Given the description of an element on the screen output the (x, y) to click on. 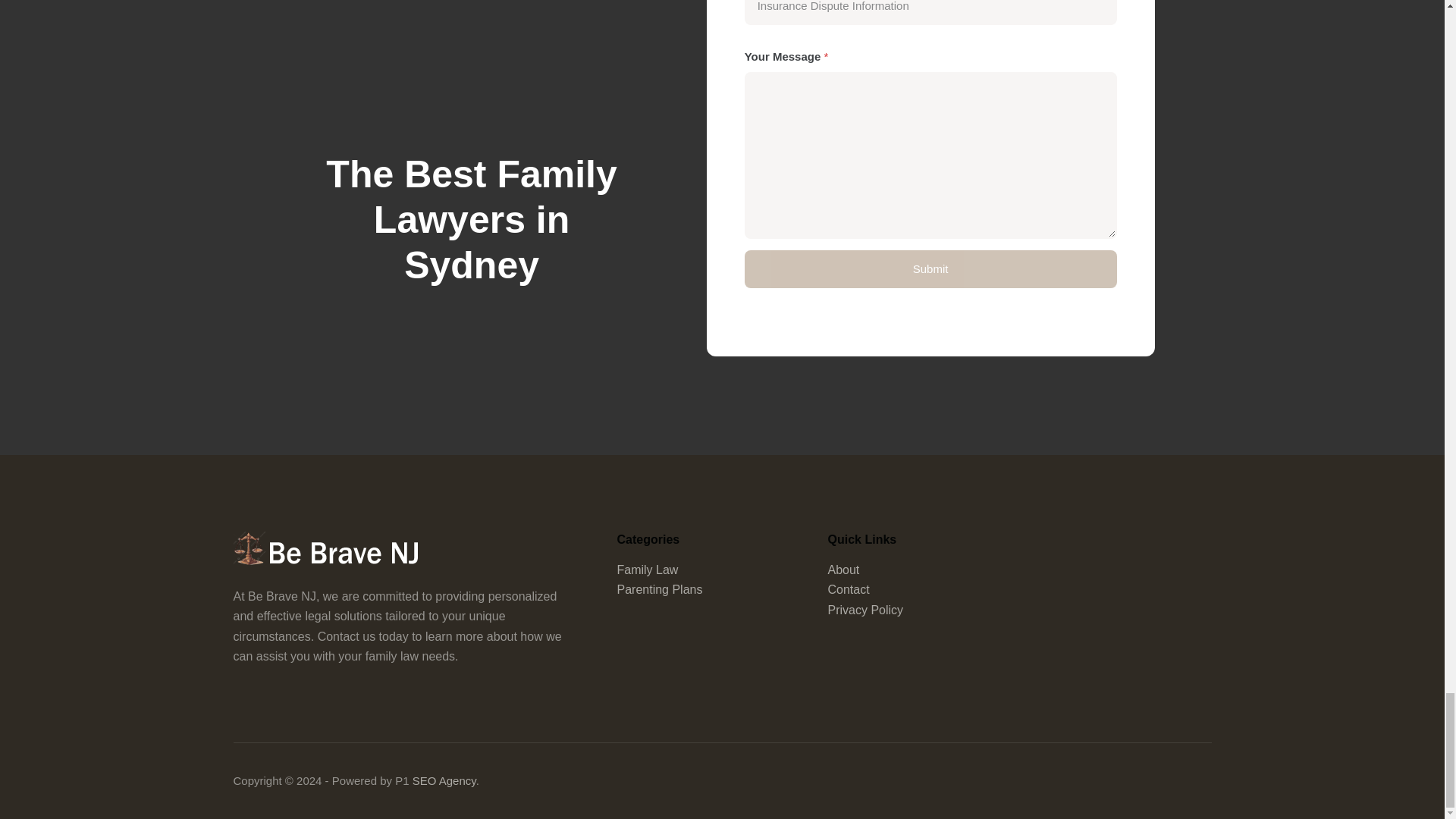
Submit (930, 269)
